Given the description of an element on the screen output the (x, y) to click on. 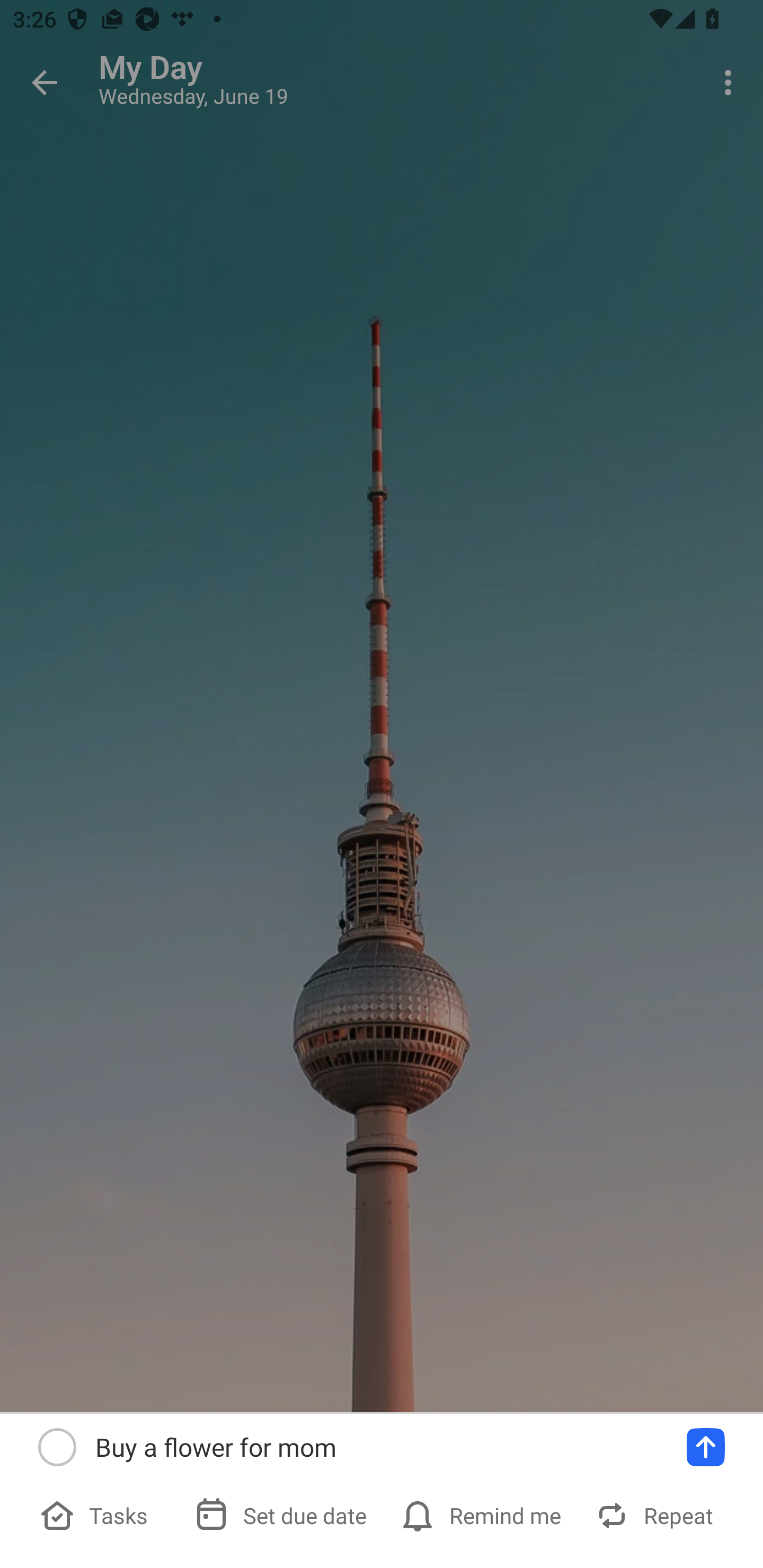
Remind me (482, 1515)
